Given the description of an element on the screen output the (x, y) to click on. 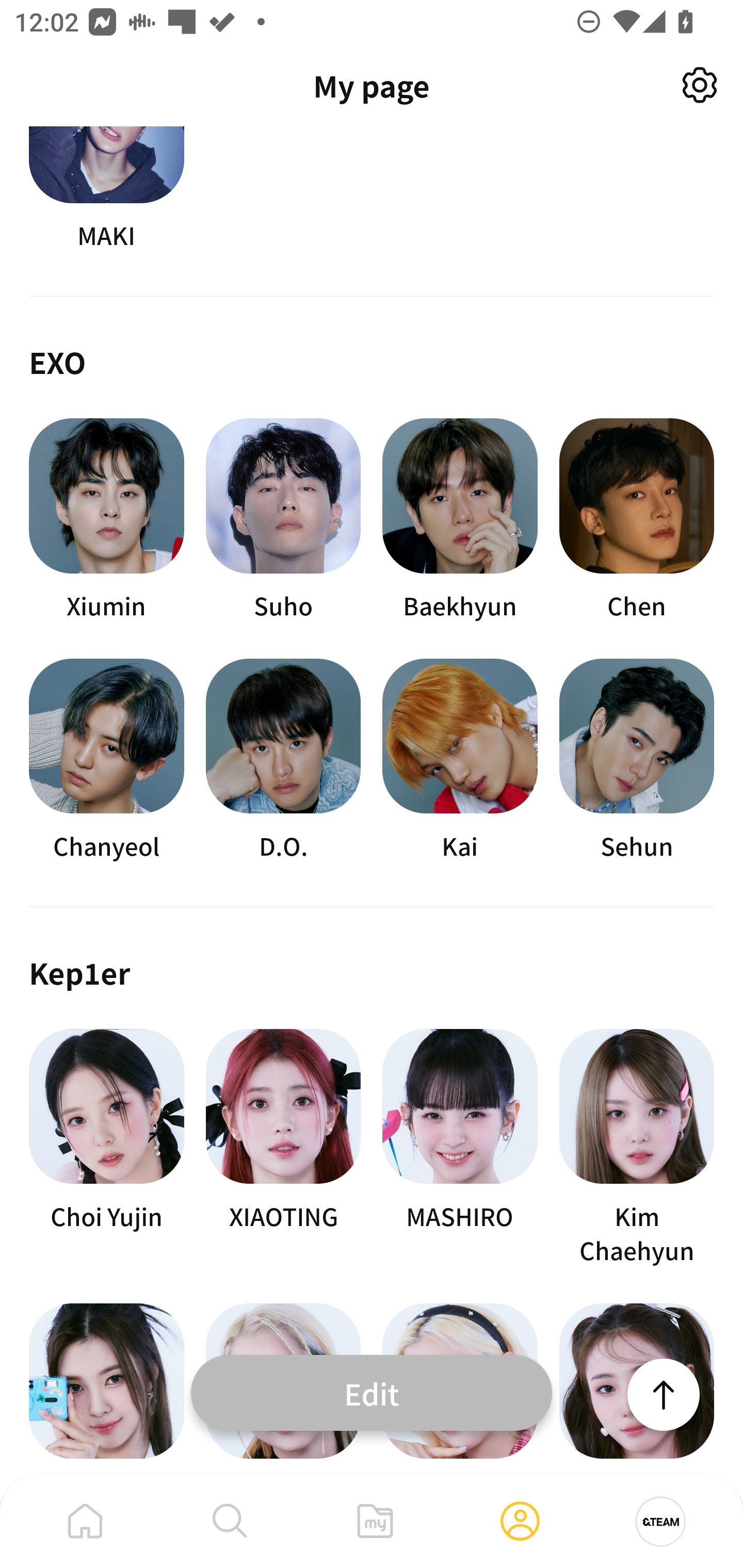
MAKI (106, 189)
Xiumin (106, 520)
Suho (282, 520)
Baekhyun (459, 520)
Chen (636, 520)
Chanyeol (106, 760)
D.O. (282, 760)
Kai (459, 760)
Sehun (636, 760)
Choi Yujin (106, 1147)
XIAOTING (282, 1147)
MASHIRO (459, 1147)
Kim Chaehyun (636, 1147)
Kim Dayeon (106, 1388)
Seo Youngeun (636, 1388)
Edit (371, 1392)
